Given the description of an element on the screen output the (x, y) to click on. 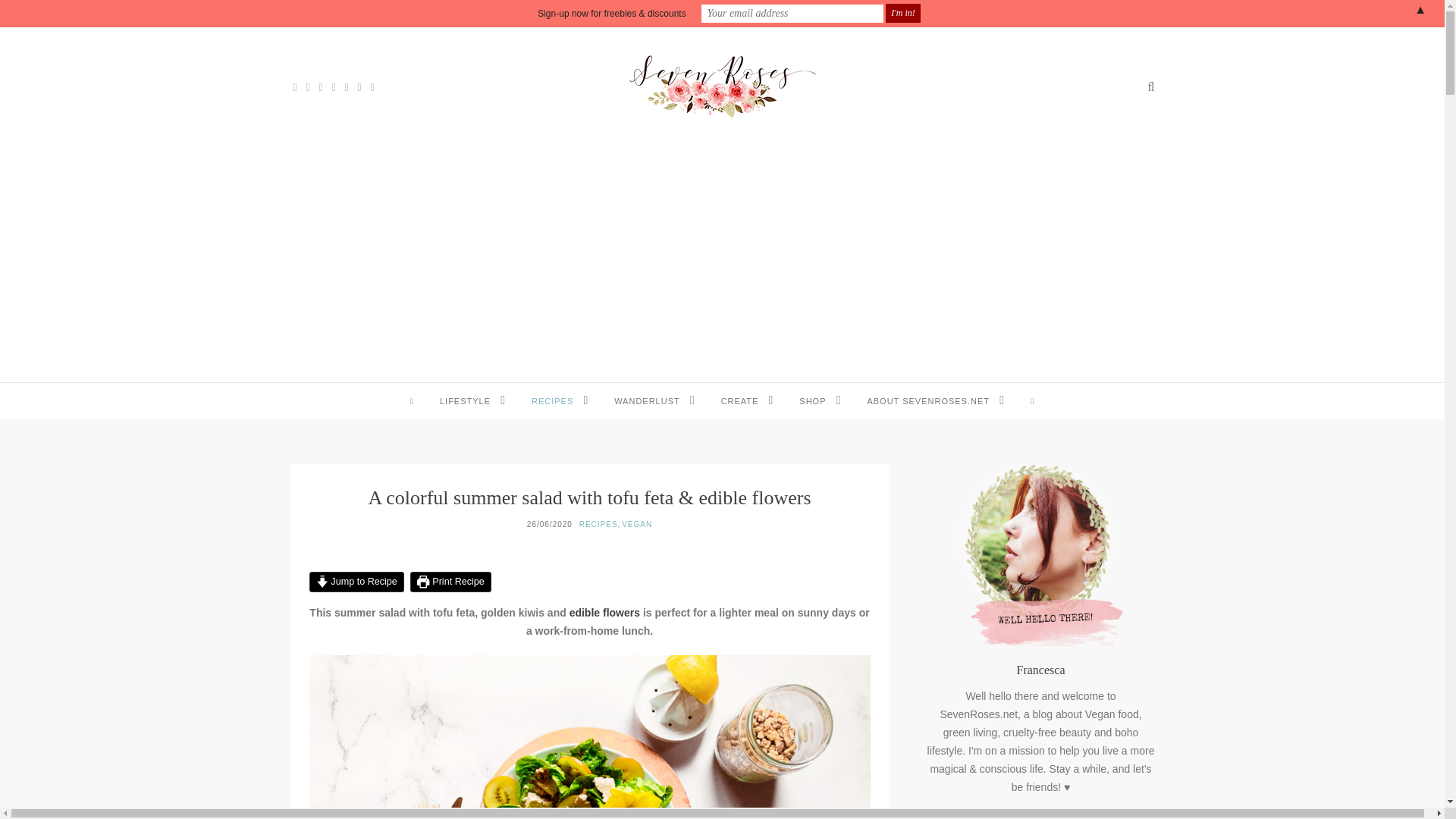
I'm in! (902, 13)
